Given the description of an element on the screen output the (x, y) to click on. 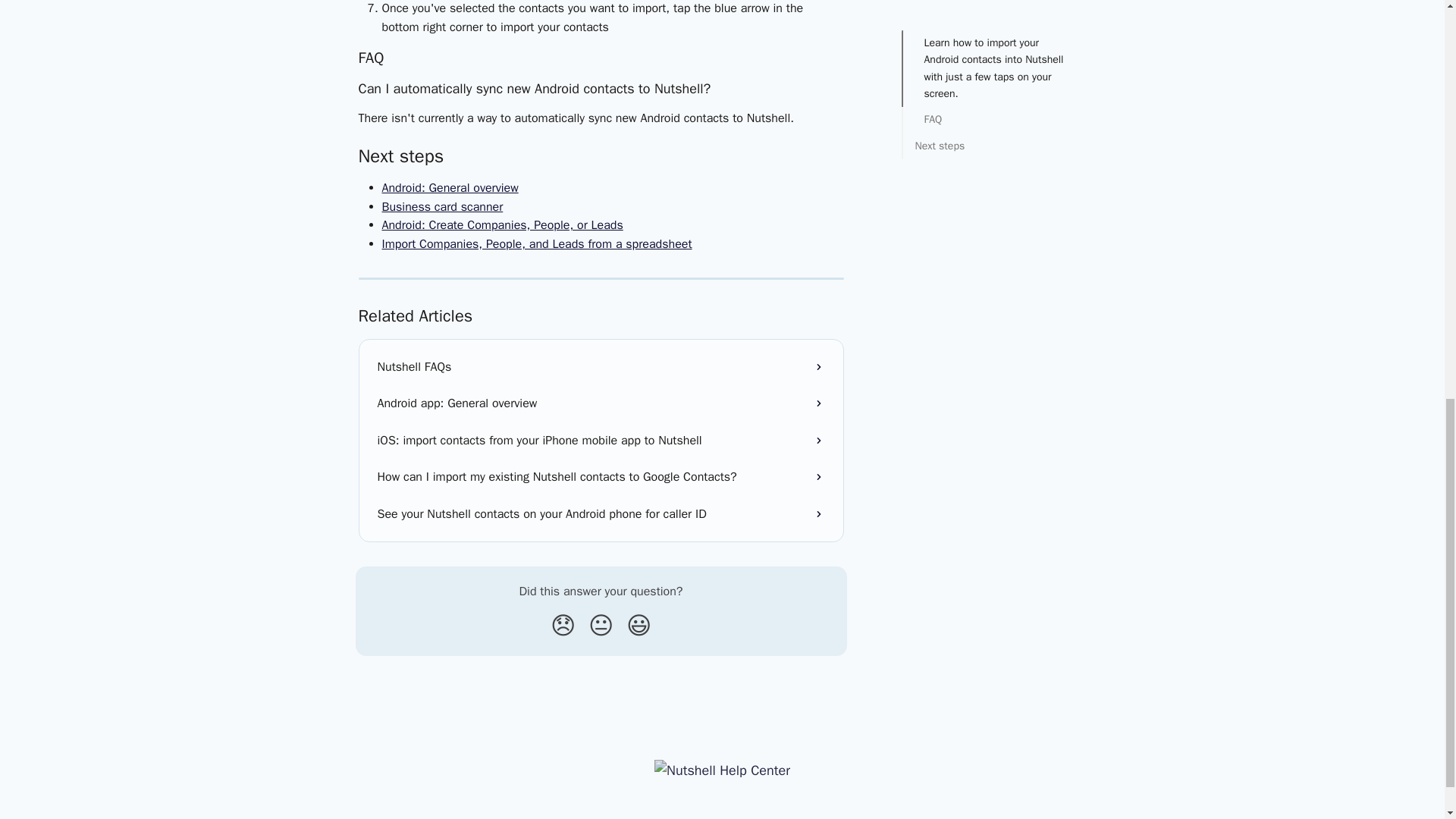
Android: General overview (449, 187)
Business card scanner (442, 206)
iOS: import contacts from your iPhone mobile app to Nutshell (601, 440)
Android app: General overview (601, 402)
Import Companies, People, and Leads from a spreadsheet (537, 243)
Nutshell FAQs (601, 366)
Android: Create Companies, People, or Leads (502, 224)
